Given the description of an element on the screen output the (x, y) to click on. 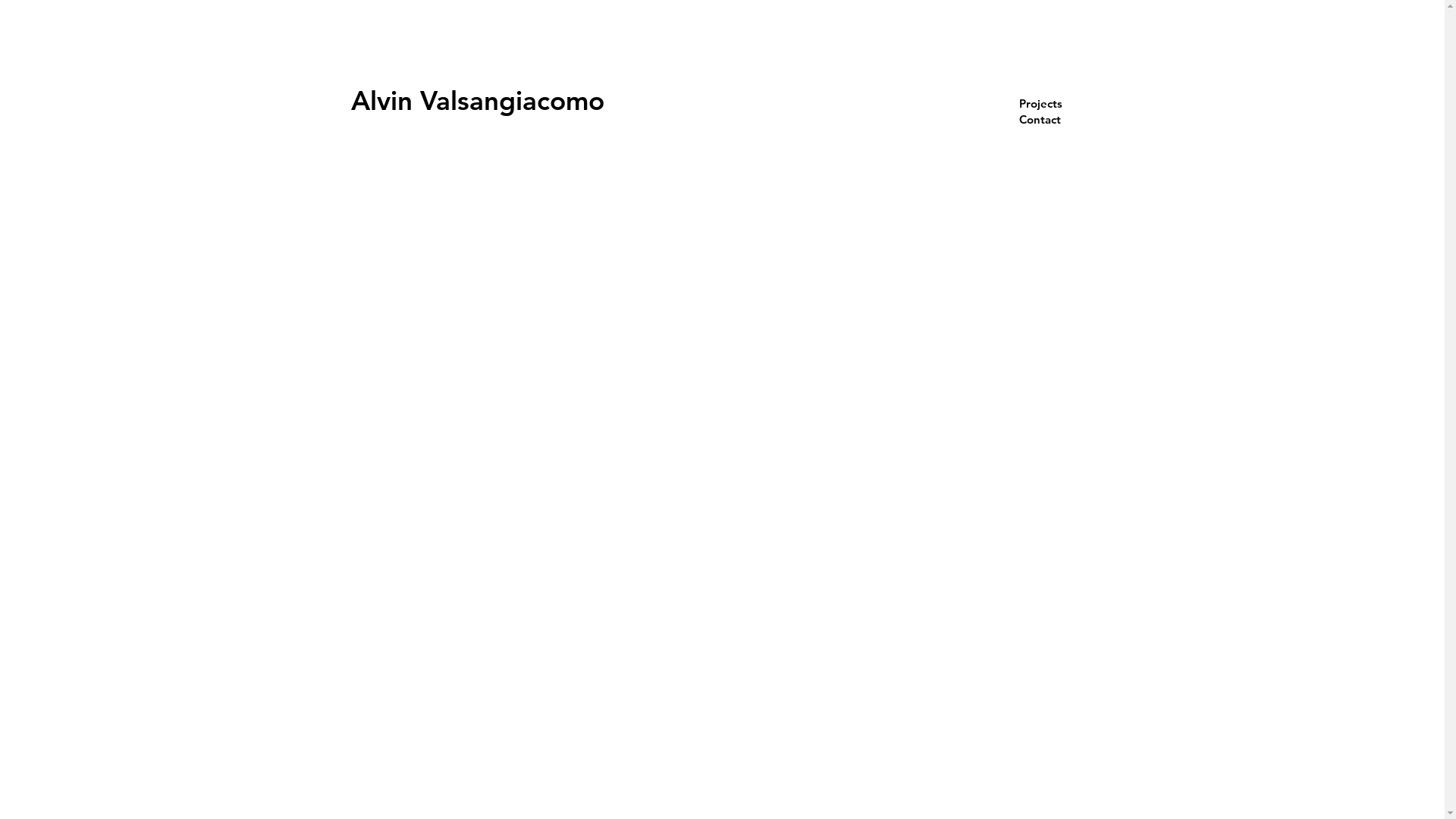
Projects Element type: text (1056, 103)
Contact Element type: text (1056, 119)
